Given the description of an element on the screen output the (x, y) to click on. 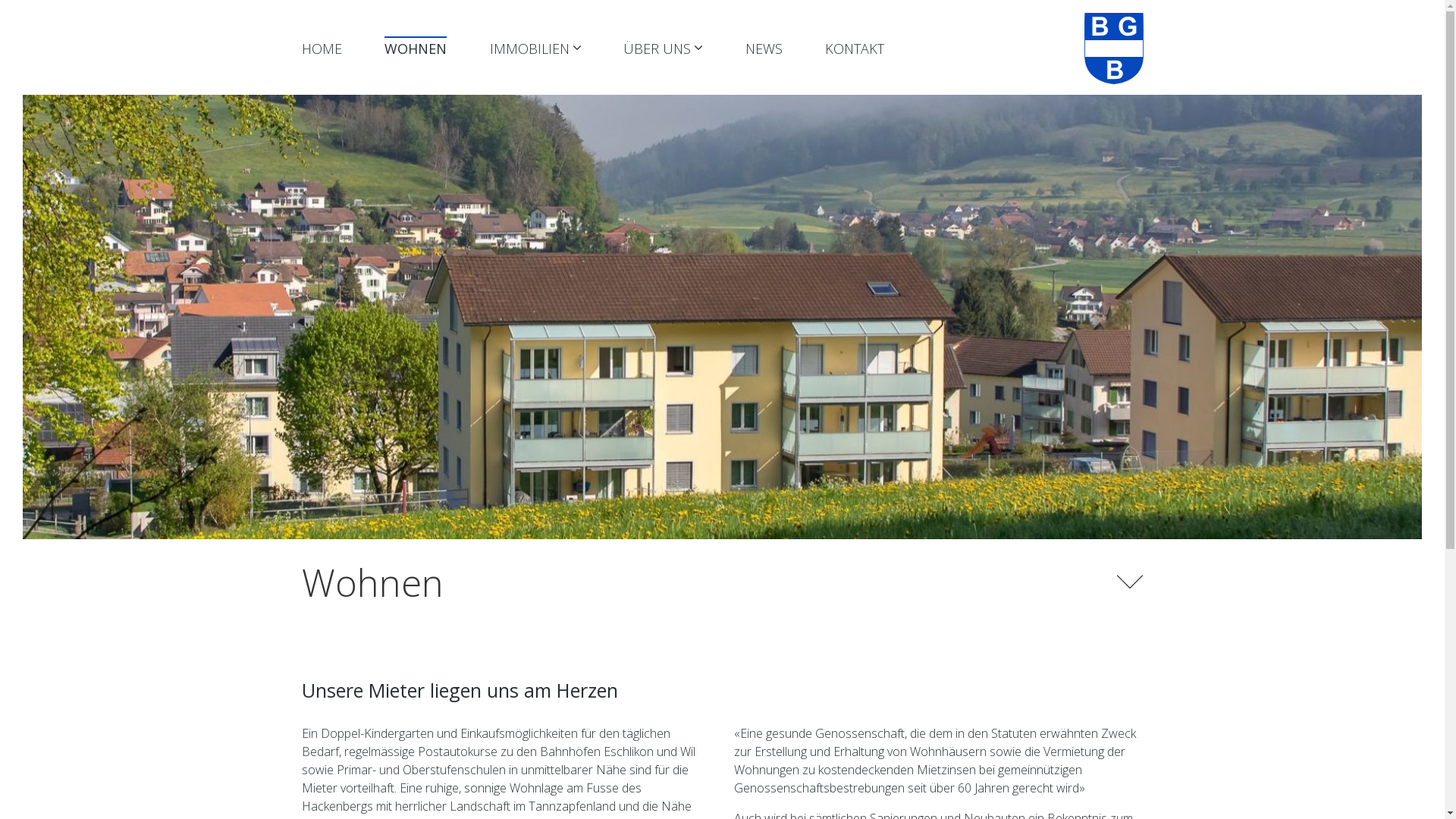
WOHNEN Element type: text (415, 48)
HOME Element type: text (321, 48)
NEWS Element type: text (762, 48)
KONTAKT Element type: text (854, 48)
IMMOBILIEN Element type: text (534, 48)
